Given the description of an element on the screen output the (x, y) to click on. 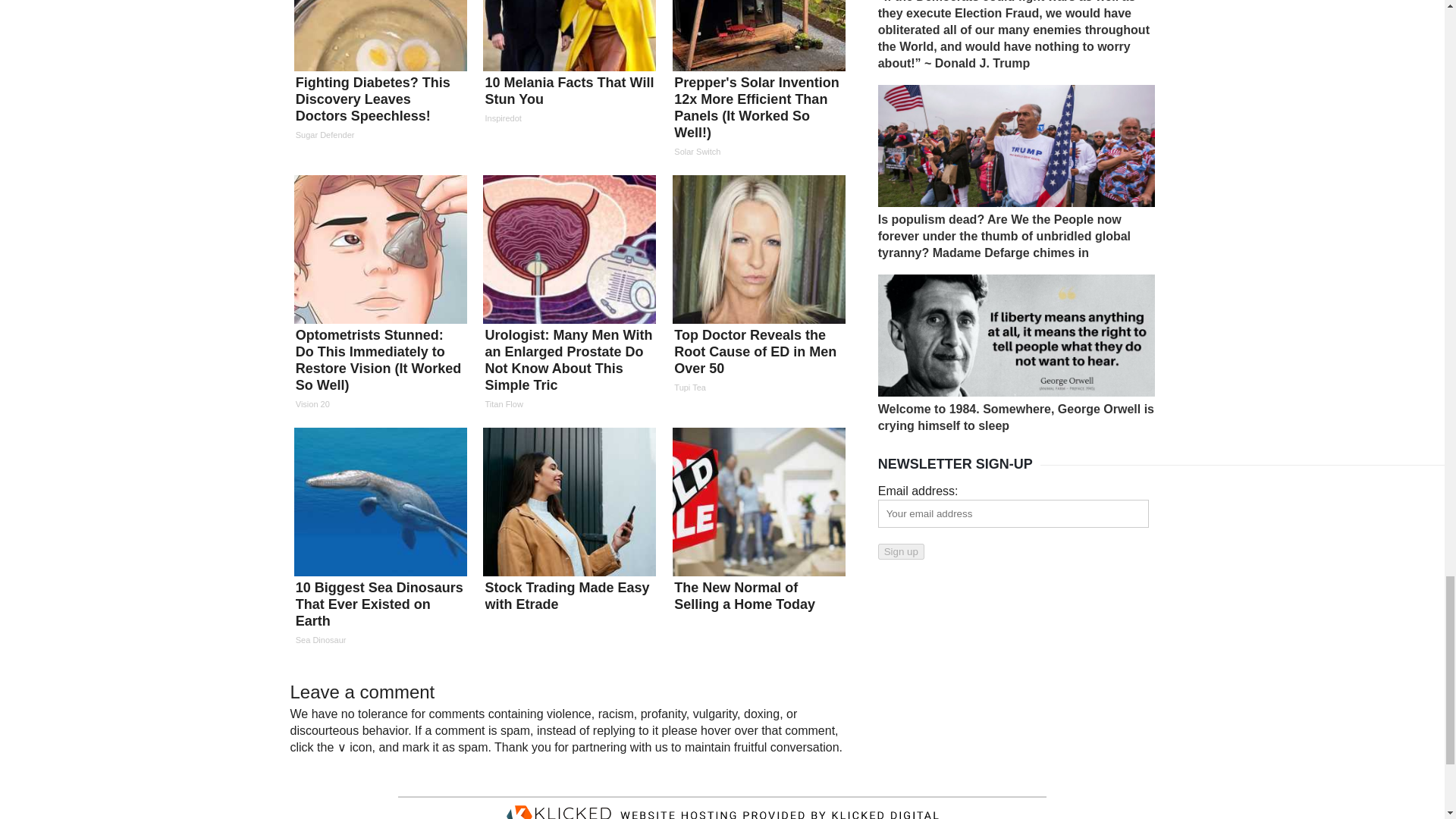
Sign up (900, 551)
